Given the description of an element on the screen output the (x, y) to click on. 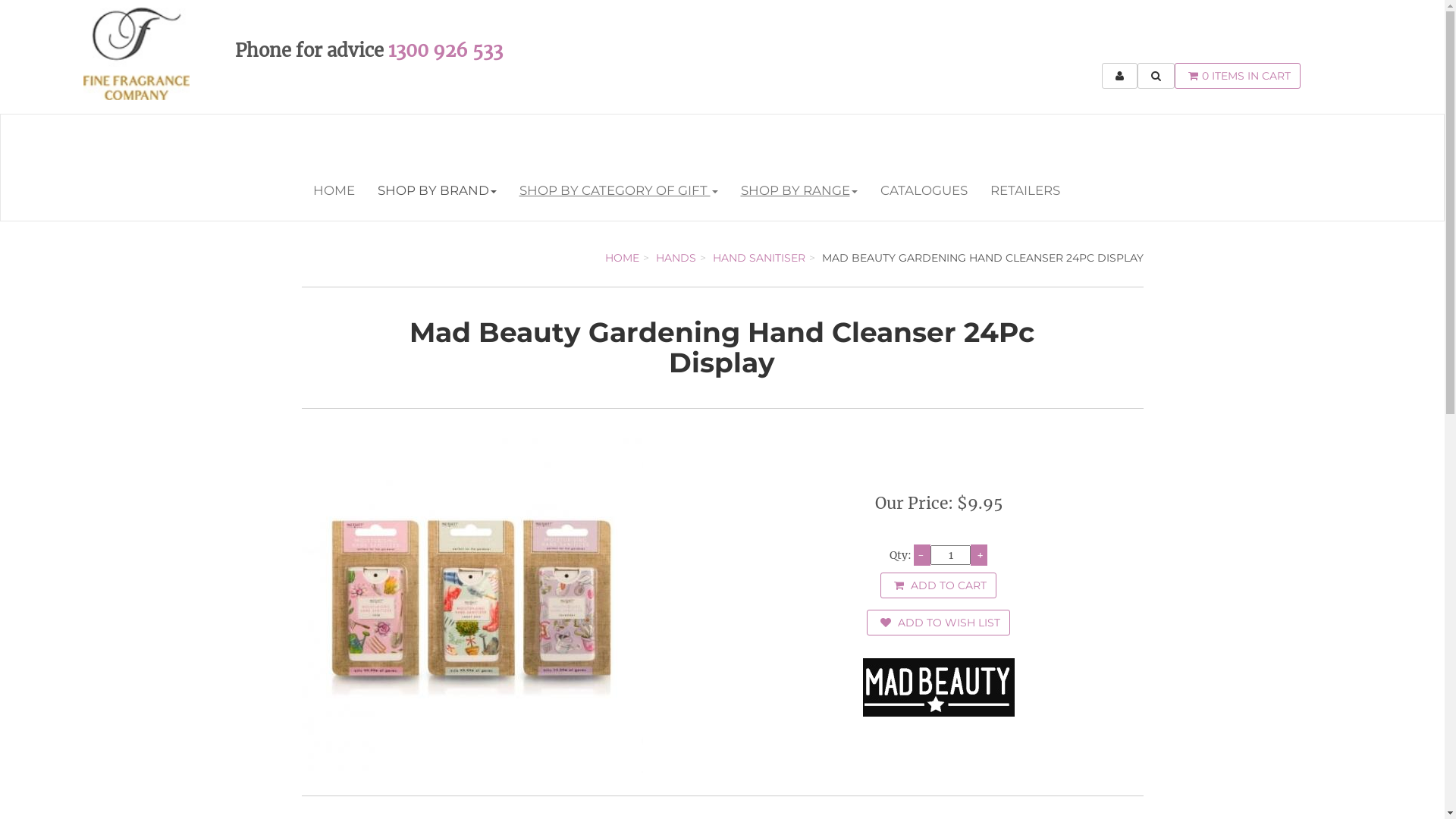
HAND SANITISER Element type: text (758, 257)
ADD TO WISH LIST Element type: text (938, 622)
TOGGLE SEARCH Element type: text (1155, 75)
0 ITEMS IN CART Element type: text (1236, 75)
ADD TO CART Element type: text (938, 585)
+ Element type: text (978, 554)
RETAILERS Element type: text (1024, 190)
HOME Element type: text (622, 257)
HOME Element type: text (333, 190)
SHOP BY CATEGORY OF GIFT Element type: text (618, 190)
Superhealth Mart - go to homepage Element type: text (136, 30)
1300 926 533 Element type: text (445, 50)
CATALOGUES Element type: text (924, 190)
SHOP BY BRAND Element type: text (436, 190)
SHOP BY RANGE Element type: text (799, 190)
HANDS Element type: text (675, 257)
- Element type: text (921, 554)
USER LOGIN Element type: text (1118, 75)
